Given the description of an element on the screen output the (x, y) to click on. 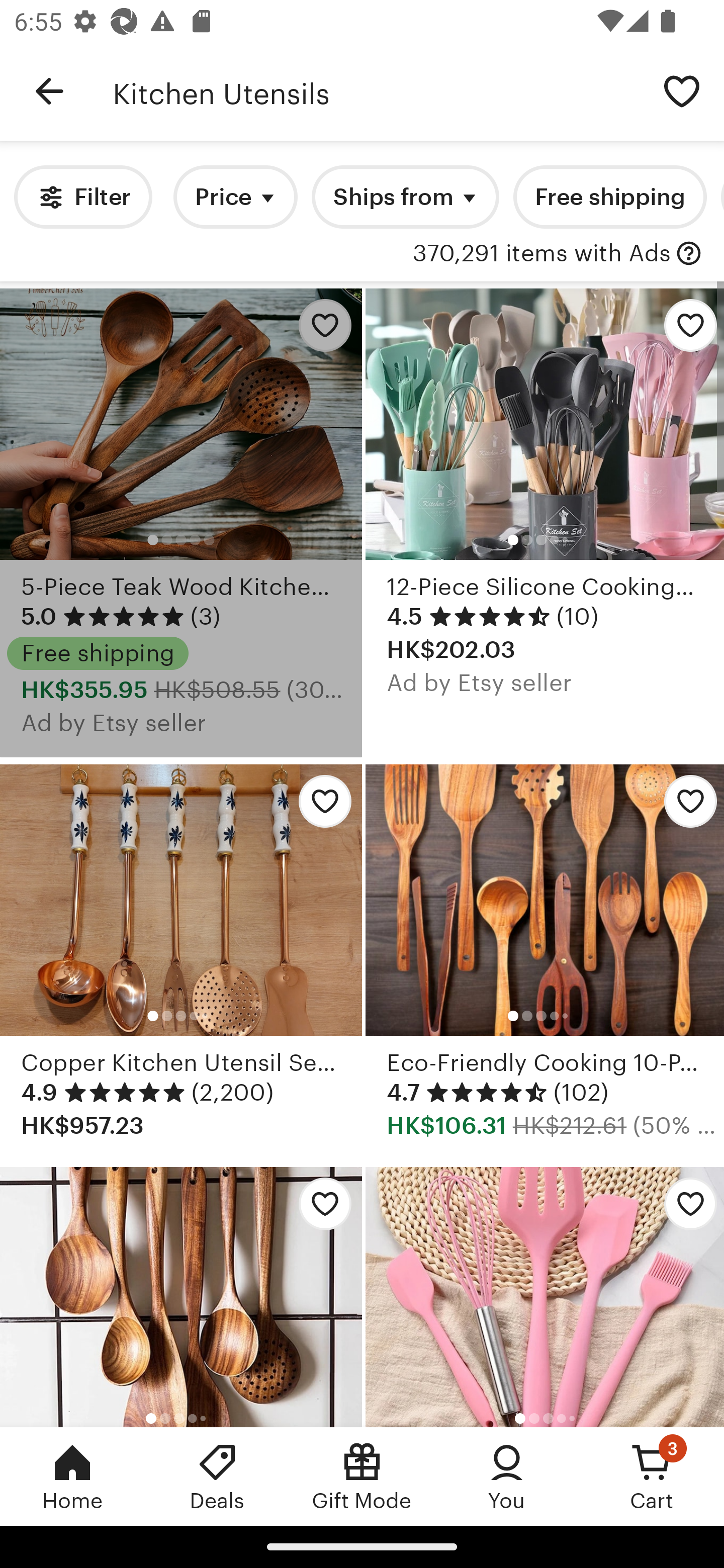
Navigate up (49, 91)
Save search (681, 90)
Kitchen Utensils (375, 91)
Filter (82, 197)
Price (235, 197)
Ships from (405, 197)
Free shipping (609, 197)
370,291 items with Ads (541, 253)
with Ads (688, 253)
Deals (216, 1475)
Gift Mode (361, 1475)
You (506, 1475)
Cart, 3 new notifications Cart (651, 1475)
